Given the description of an element on the screen output the (x, y) to click on. 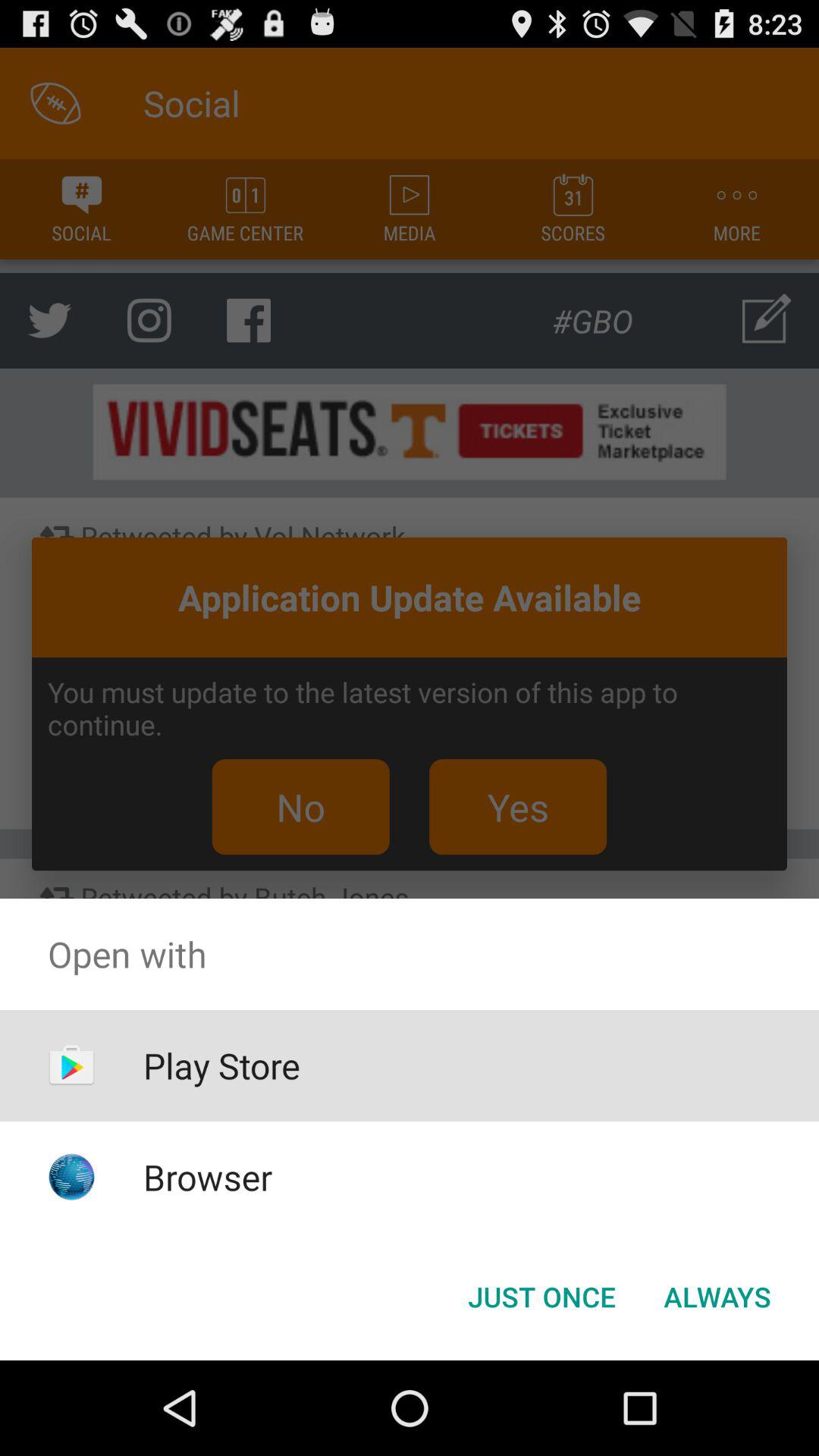
scroll until the always (717, 1296)
